Given the description of an element on the screen output the (x, y) to click on. 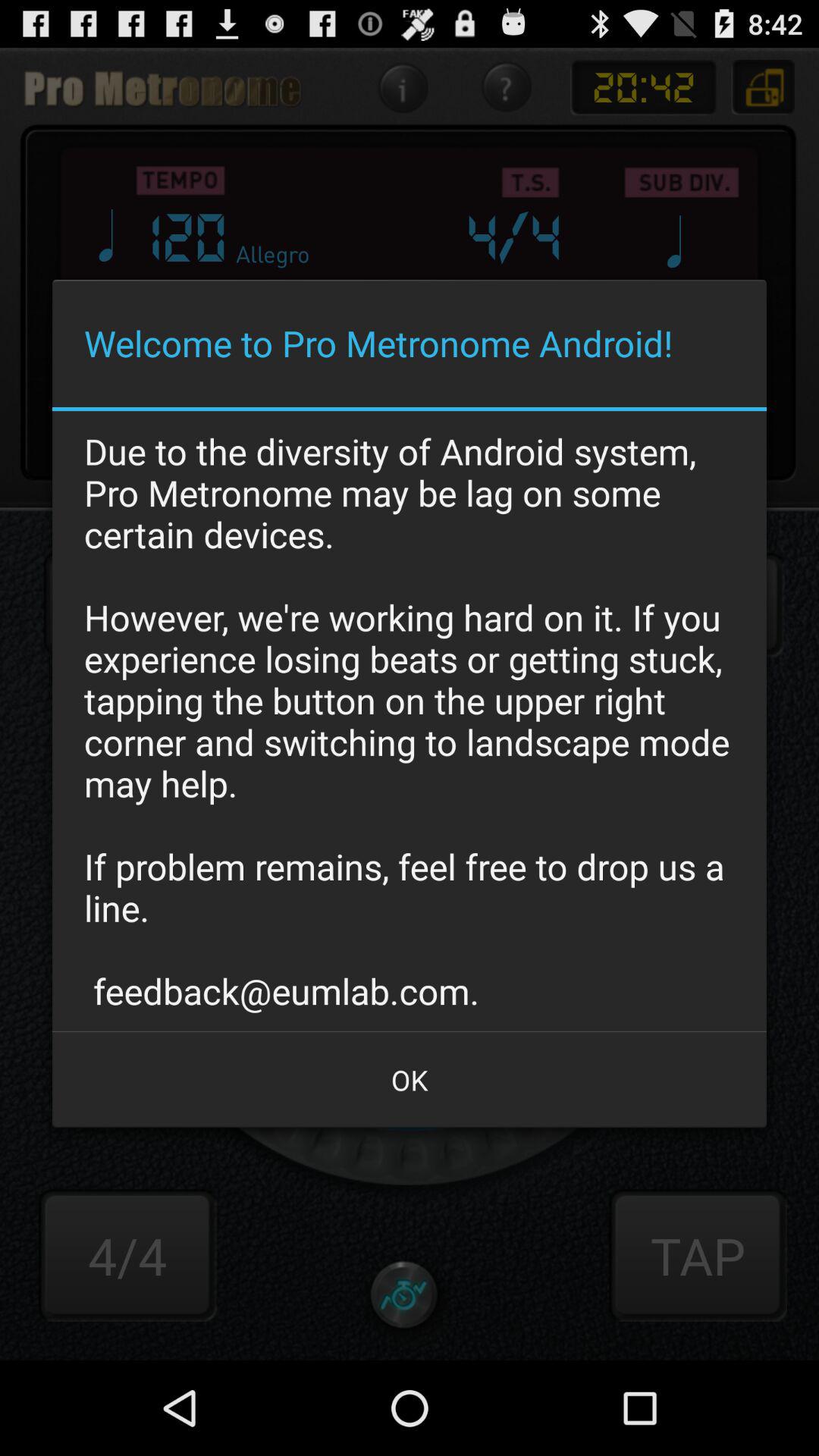
select the ok icon (409, 1079)
